Given the description of an element on the screen output the (x, y) to click on. 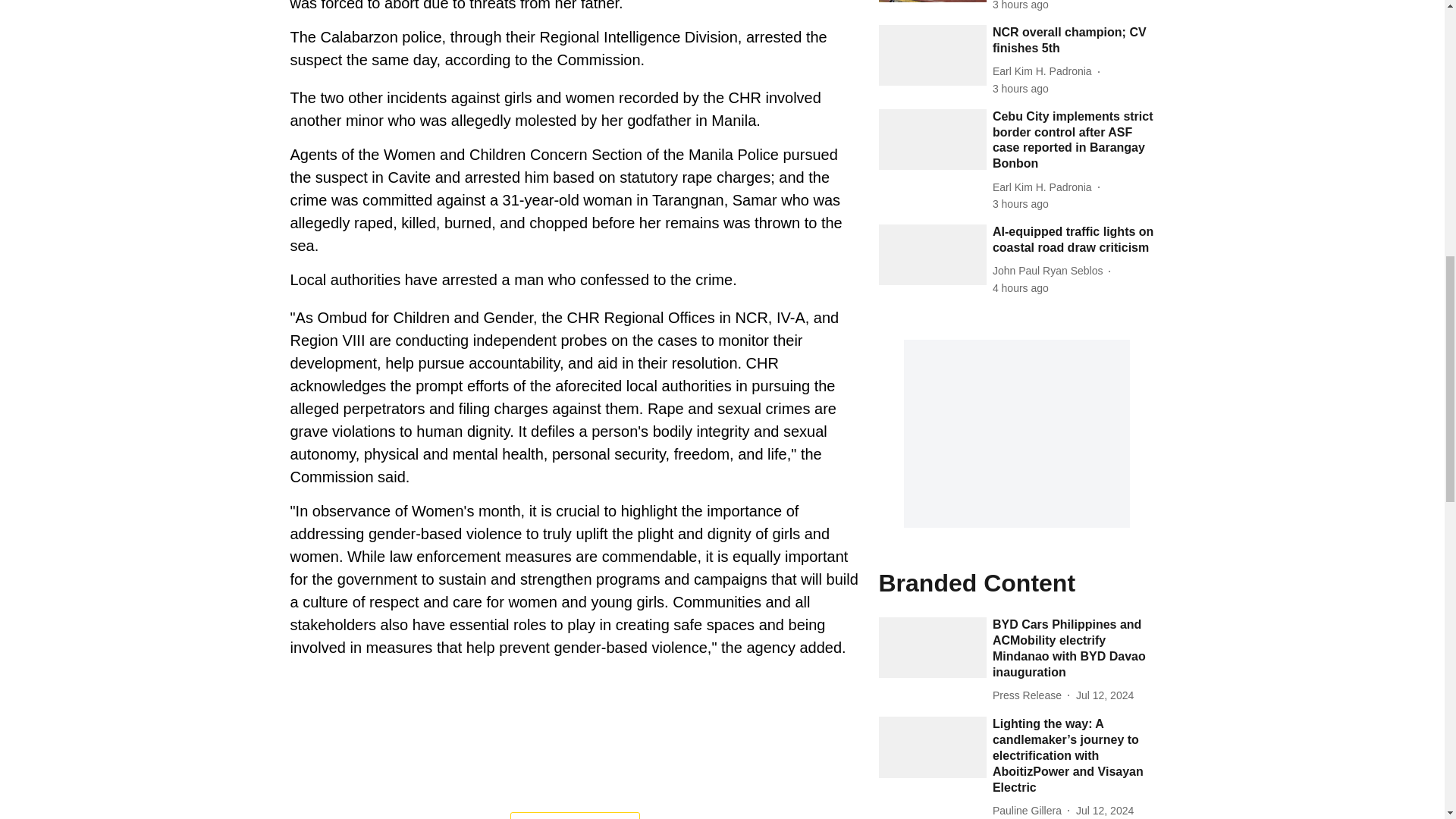
2024-07-12 07:00 (1104, 811)
2024-07-16 14:12 (1020, 288)
2024-07-16 15:16 (1020, 89)
2024-07-12 10:22 (1104, 695)
2024-07-16 15:21 (1020, 6)
2024-07-16 15:00 (1020, 204)
Show Comments (575, 815)
